Given the description of an element on the screen output the (x, y) to click on. 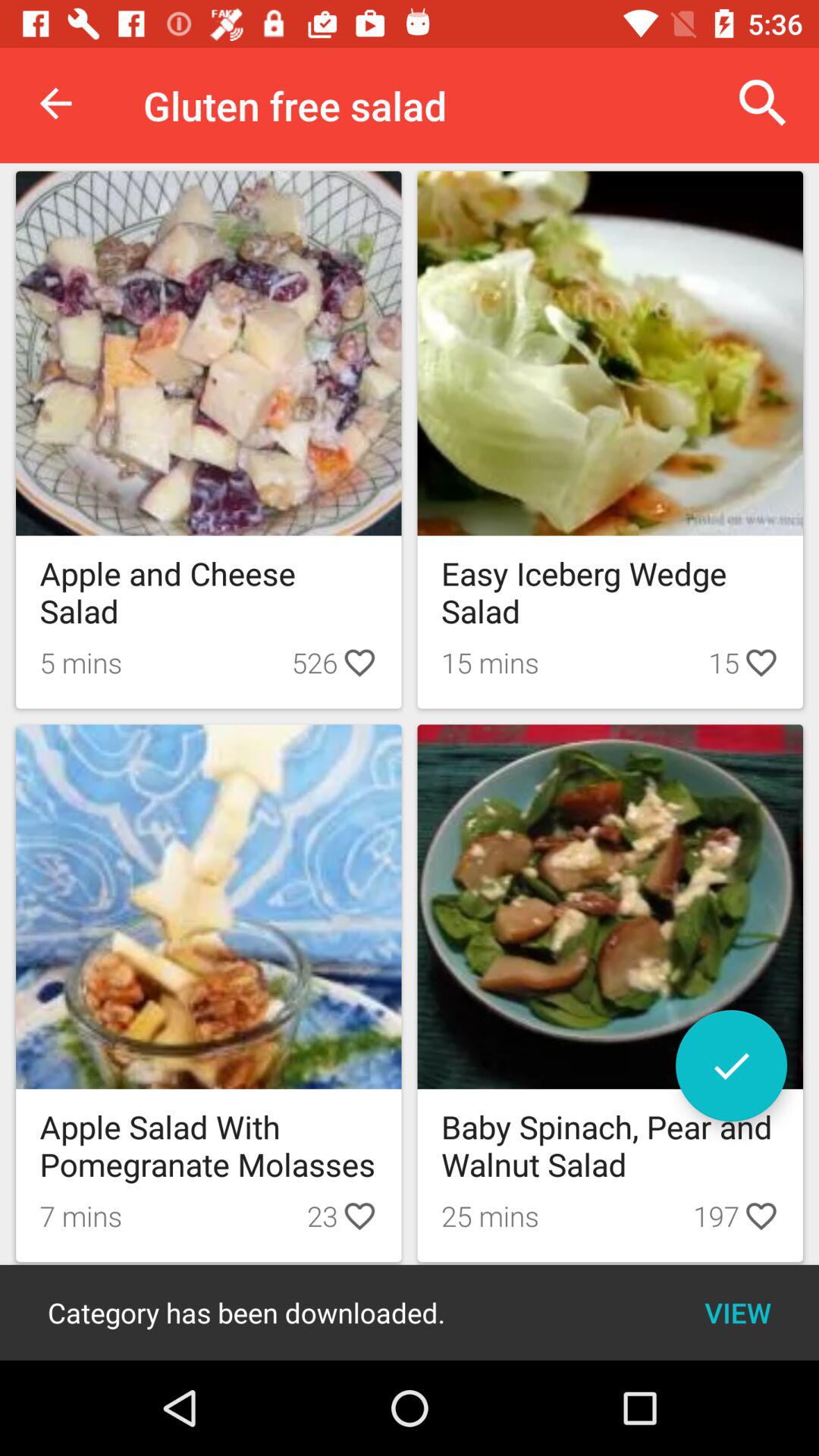
choose the item next to the gluten free salad (763, 103)
